Given the description of an element on the screen output the (x, y) to click on. 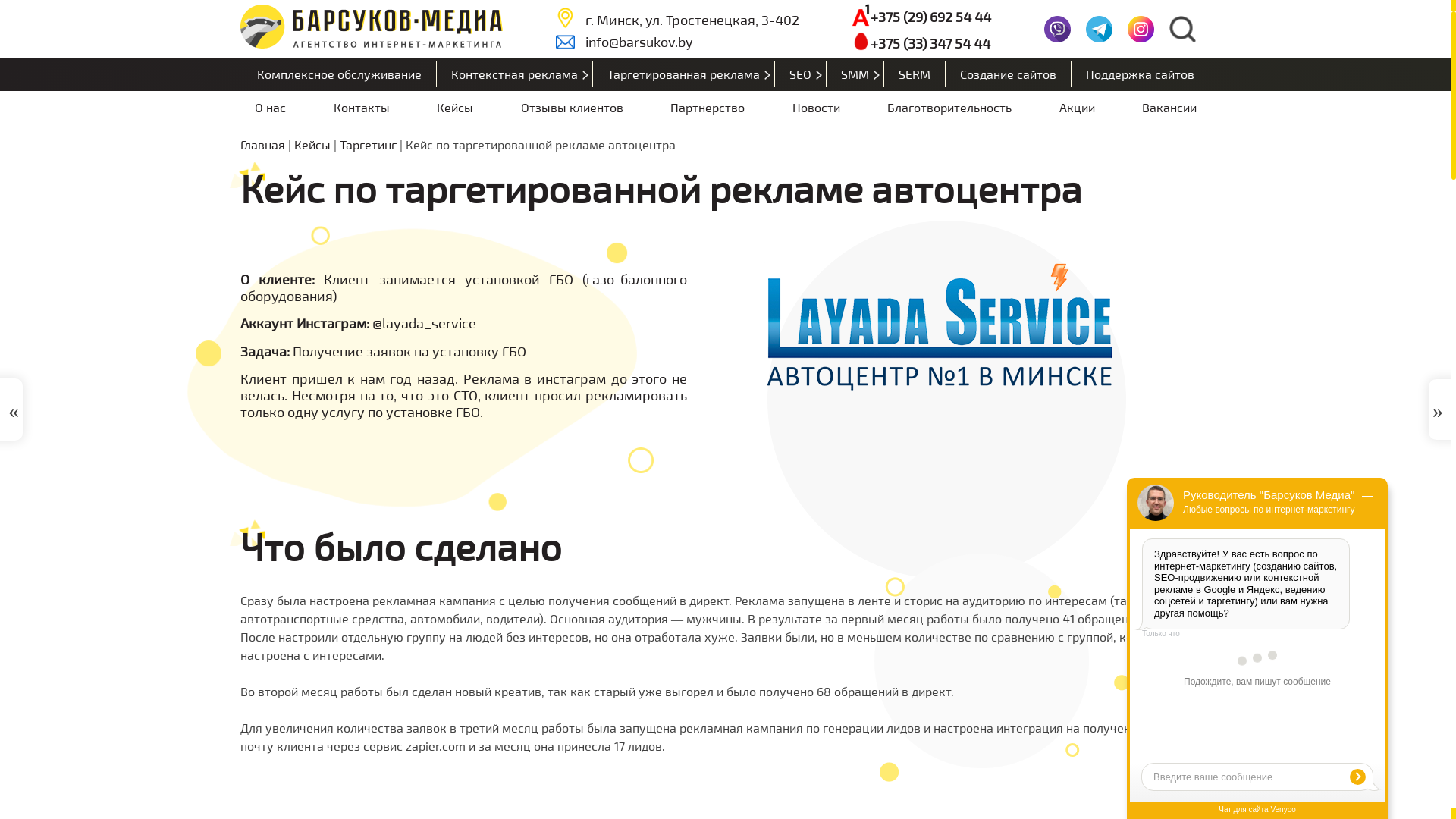
SEO Element type: text (800, 74)
+375 (33) 347 54 44 Element type: text (921, 42)
+375 (29) 692 54 44 Element type: text (921, 16)
info@barsukov.by Element type: text (677, 41)
SERM Element type: text (914, 74)
SMM Element type: text (855, 74)
